Given the description of an element on the screen output the (x, y) to click on. 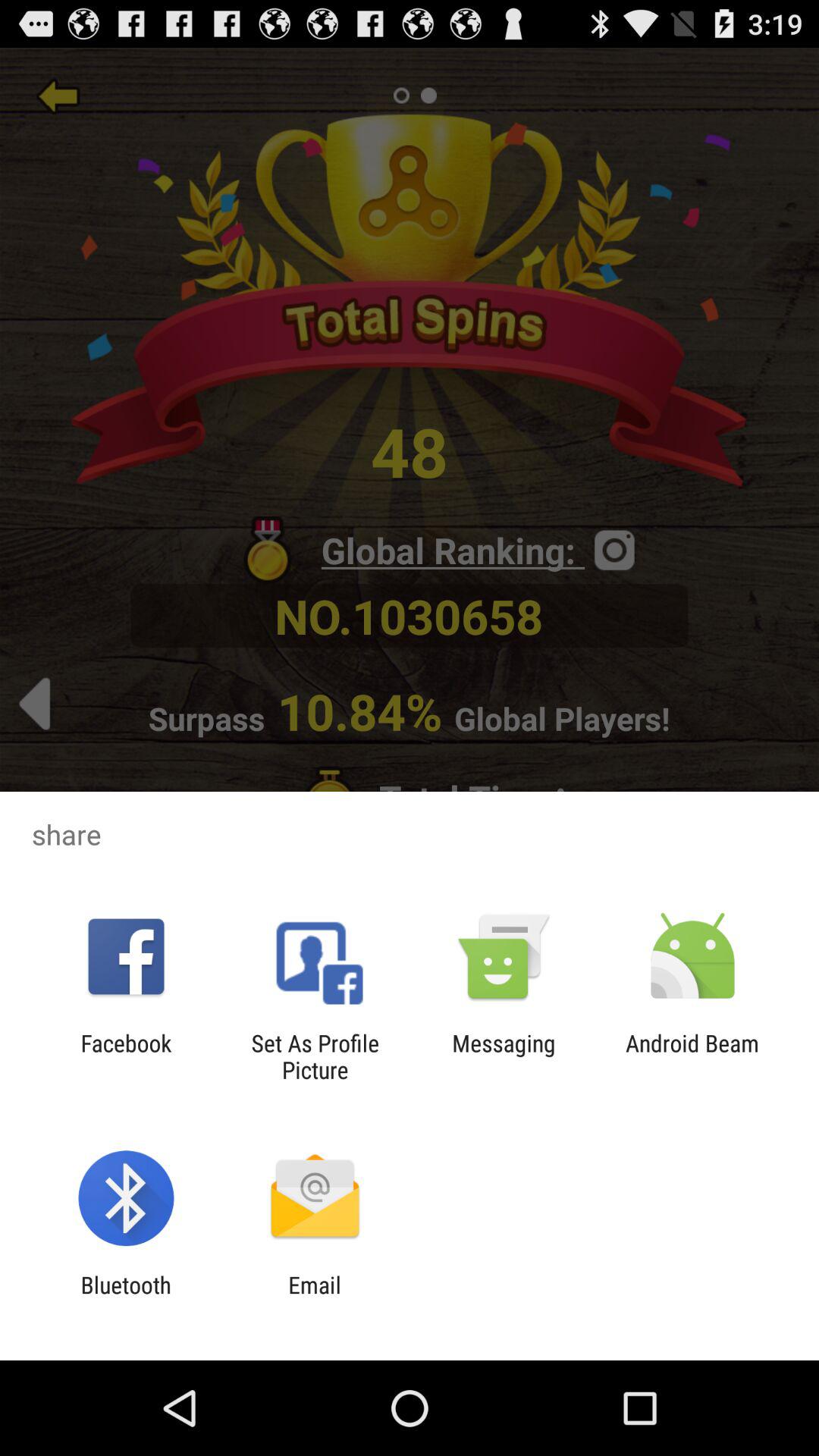
press item next to messaging item (314, 1056)
